Given the description of an element on the screen output the (x, y) to click on. 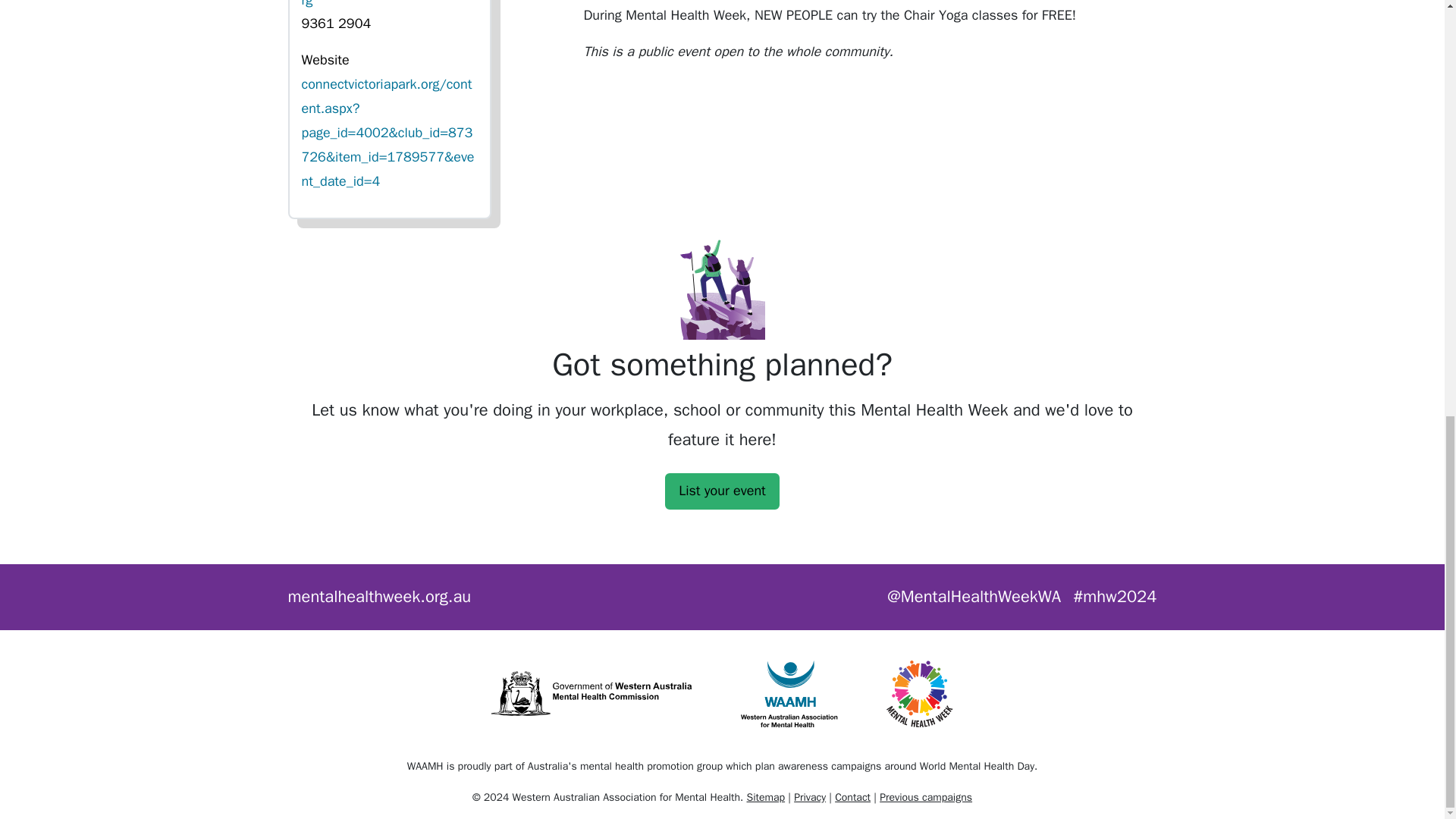
Privacy (809, 797)
mentalhealthweek.org.au (379, 596)
Previous campaigns (925, 797)
List your event (721, 491)
Sitemap (764, 797)
Contact (852, 797)
